Given the description of an element on the screen output the (x, y) to click on. 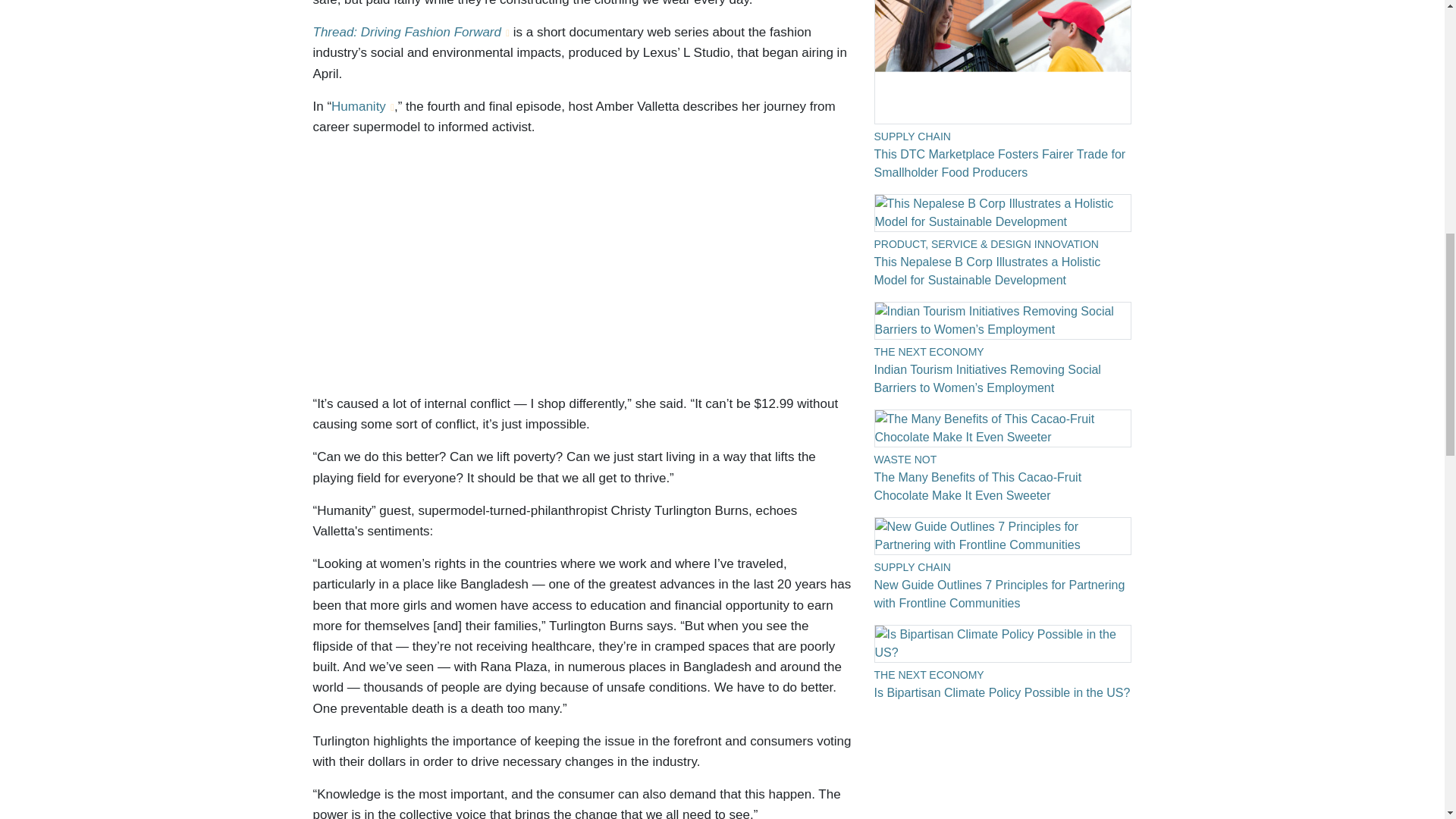
YouTube video player (524, 268)
